Given the description of an element on the screen output the (x, y) to click on. 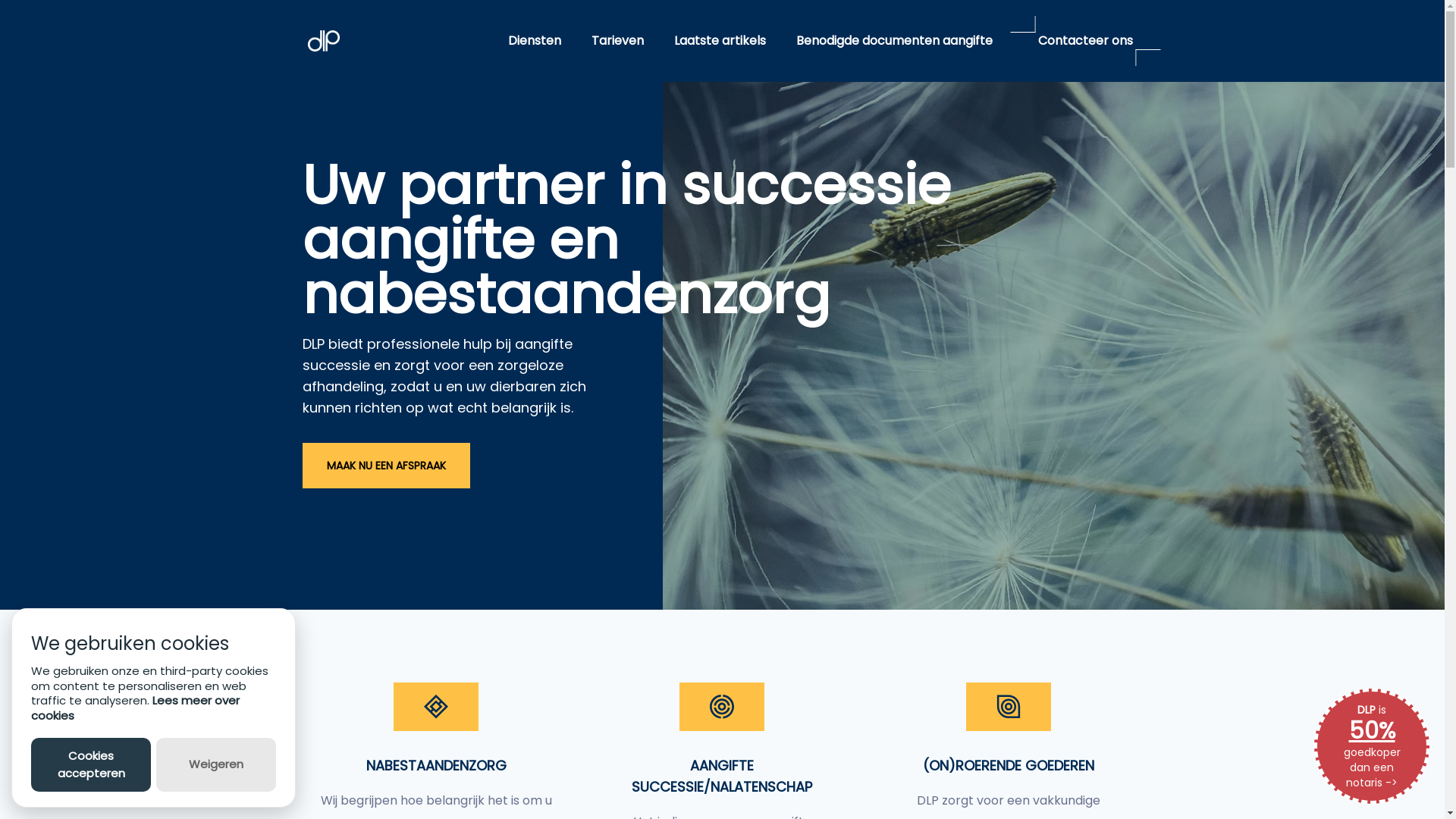
Diensten Element type: text (534, 40)
Tarieven Element type: text (617, 40)
Laatste artikels Element type: text (719, 40)
Contacteer ons Element type: text (1085, 40)
Lees meer over cookies Element type: text (135, 707)
Cookies accepteren Element type: text (90, 764)
Weigeren Element type: text (216, 764)
MAAK NU EEN AFSPRAAK Element type: text (385, 465)
Benodigde documenten aangifte Element type: text (894, 40)
